Given the description of an element on the screen output the (x, y) to click on. 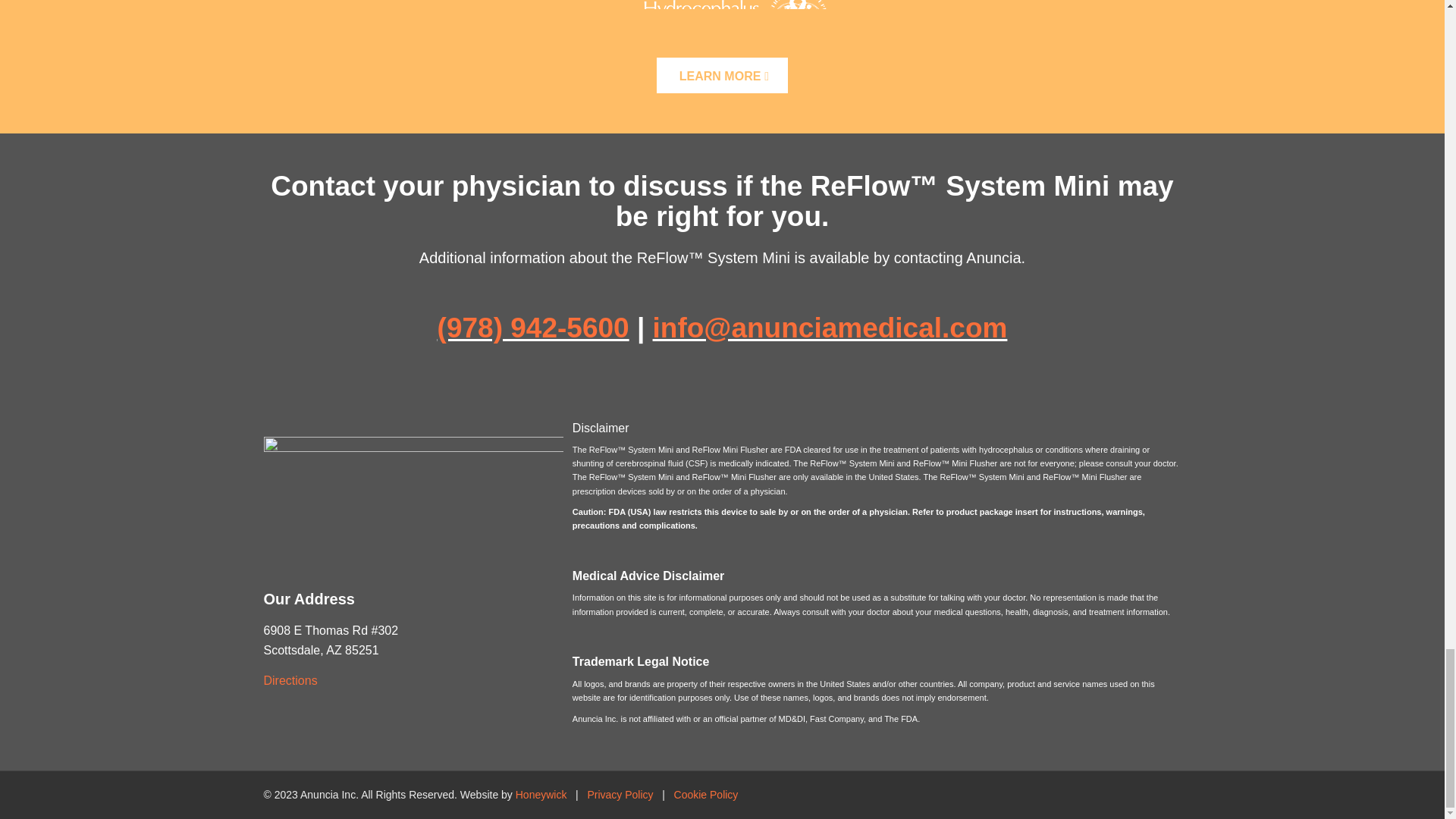
hydrologo (721, 23)
